Given the description of an element on the screen output the (x, y) to click on. 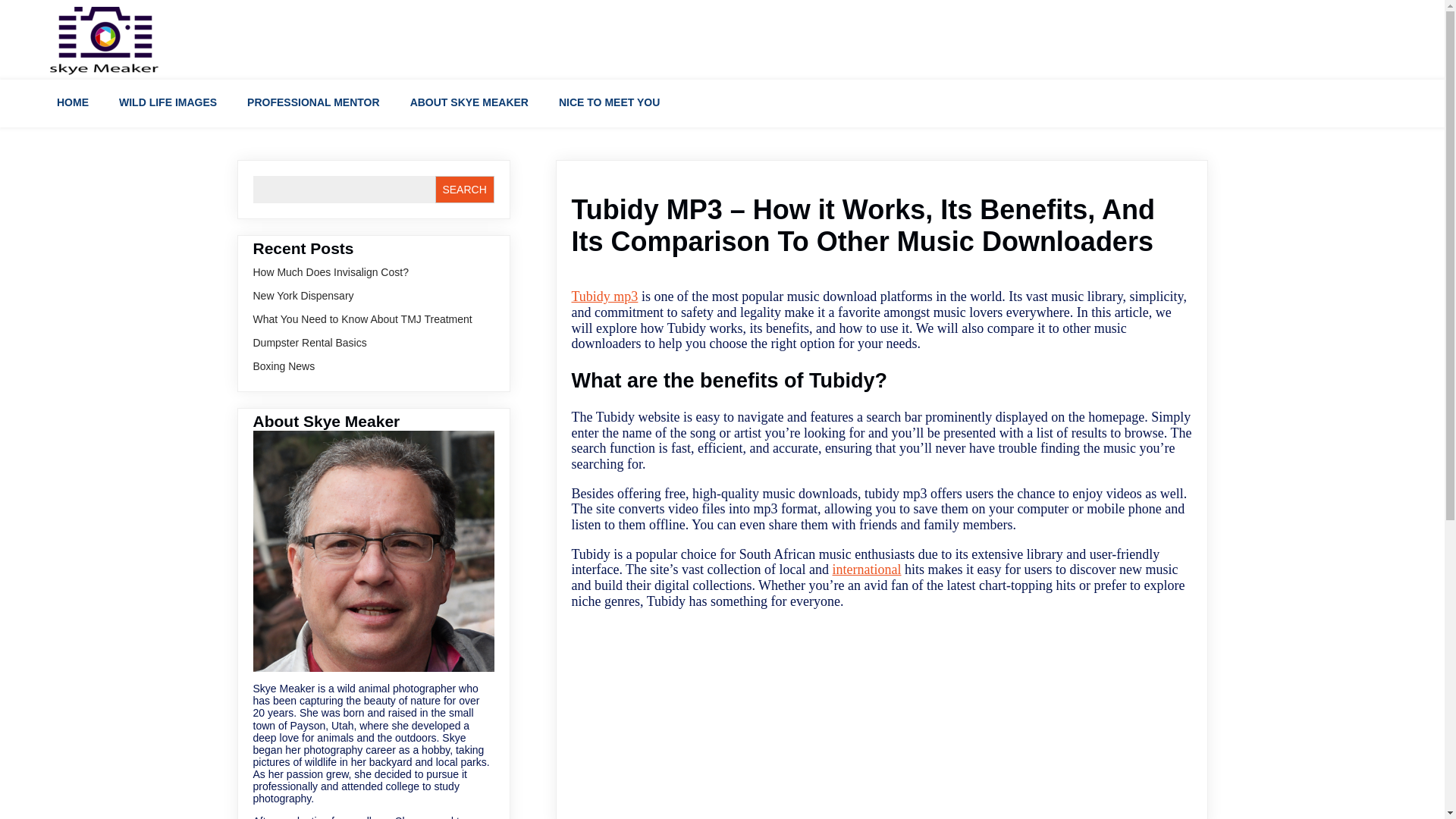
international (866, 569)
NICE TO MEET YOU (612, 103)
HOME (76, 103)
Dumpster Rental Basics (309, 342)
WILD LIFE IMAGES (171, 103)
Boxing News (284, 366)
SEARCH (465, 189)
Tubidy mp3 (605, 296)
What You Need to Know About TMJ Treatment (362, 318)
New York Dispensary (303, 295)
